Given the description of an element on the screen output the (x, y) to click on. 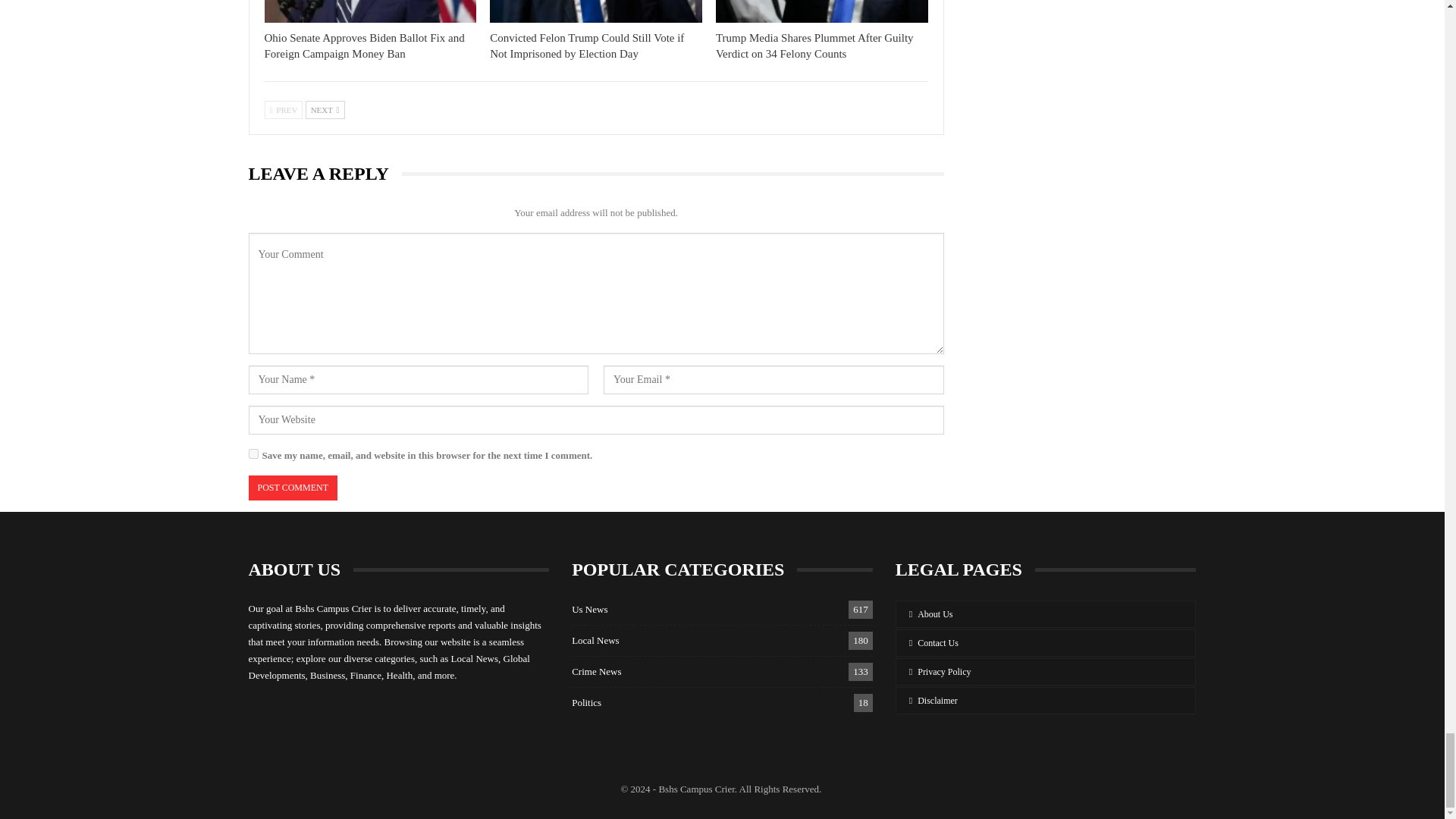
Post Comment (292, 487)
yes (253, 453)
